Given the description of an element on the screen output the (x, y) to click on. 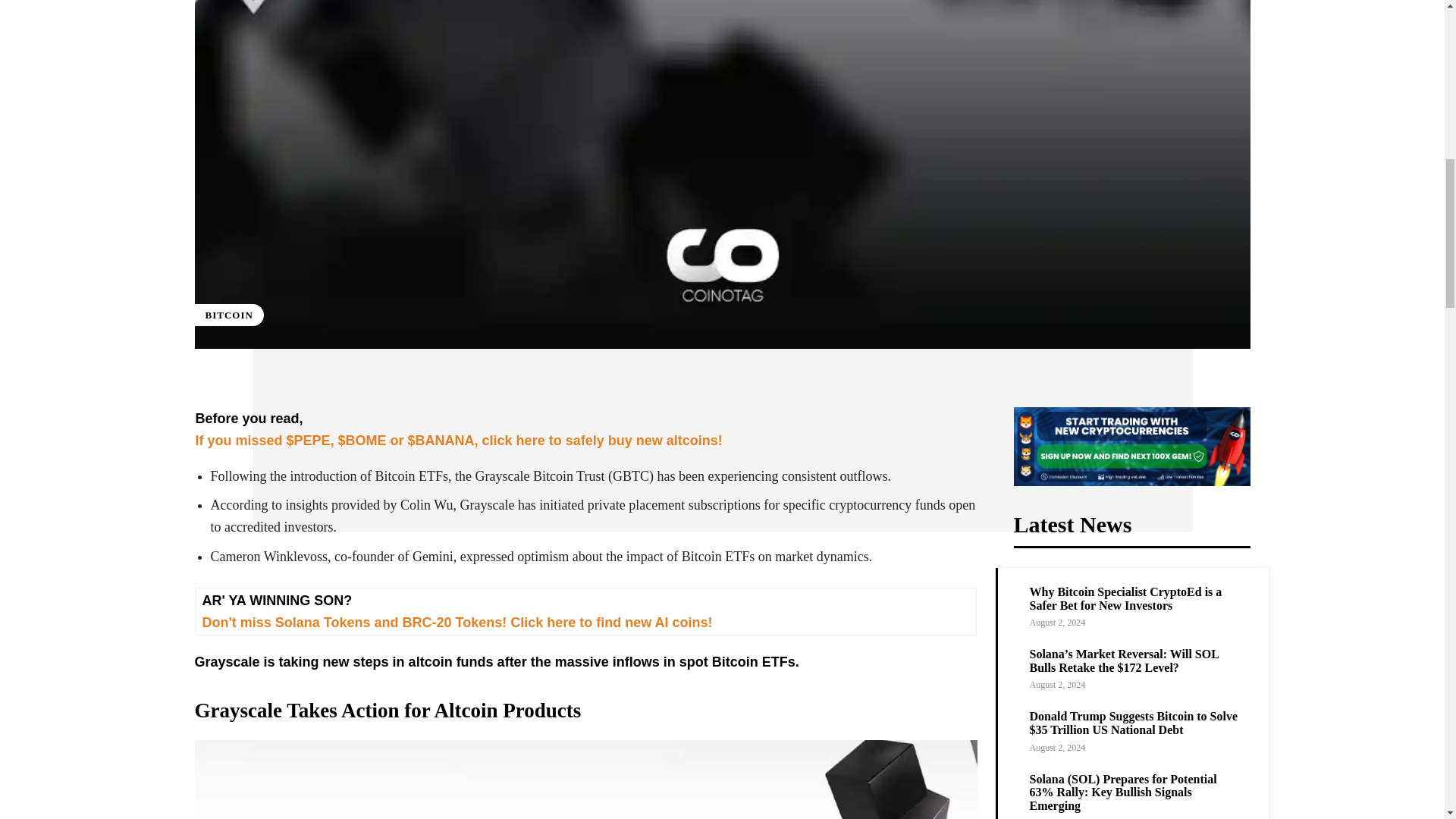
BITCOIN (228, 314)
